Given the description of an element on the screen output the (x, y) to click on. 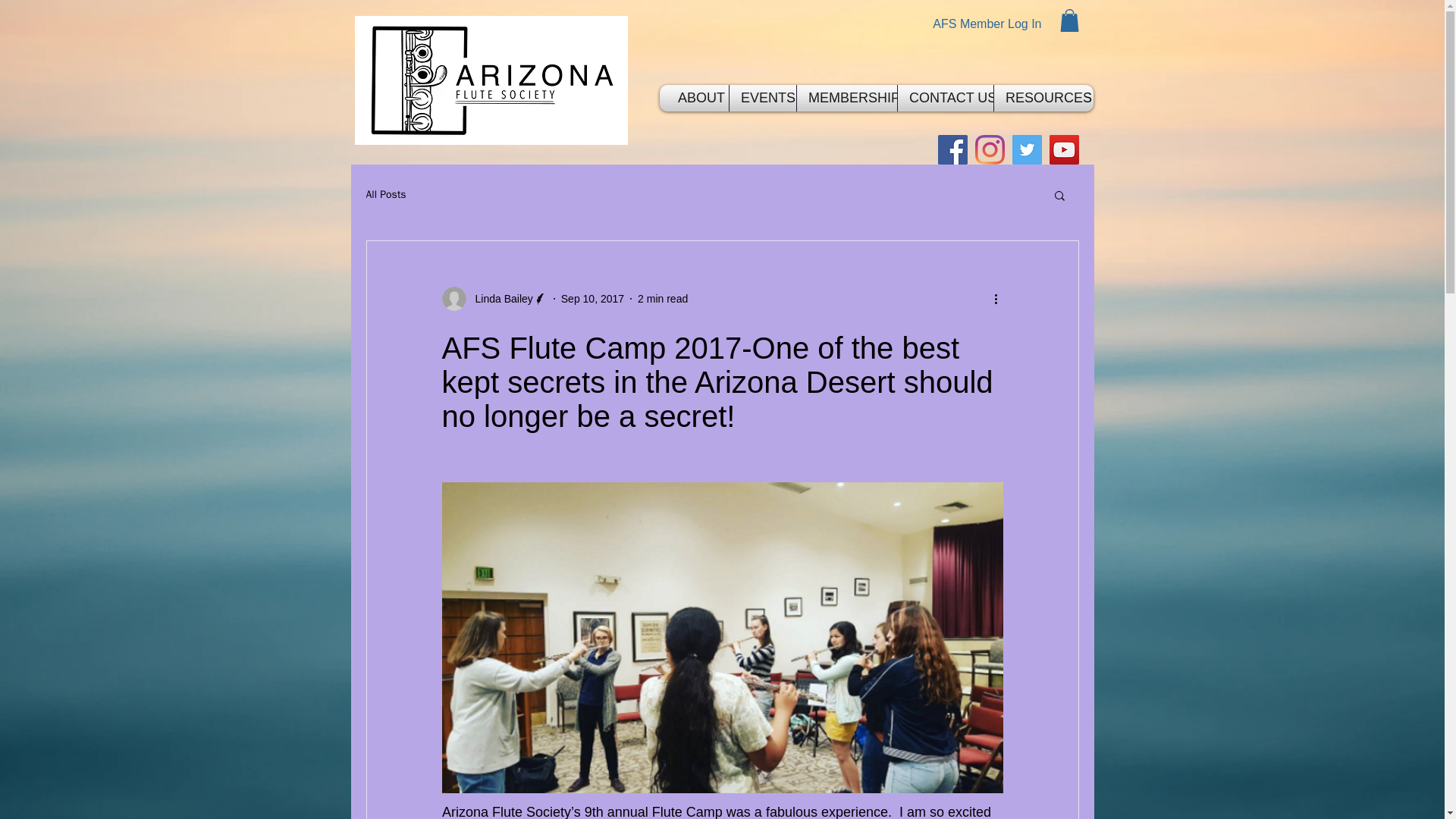
MEMBERSHIP (846, 98)
Linda Bailey (494, 298)
Sep 10, 2017 (592, 298)
EVENTS (762, 98)
2 min read (662, 298)
Linda Bailey (498, 299)
All Posts (385, 194)
RESOURCES (1039, 98)
ABOUT (697, 98)
CONTACT US (945, 98)
